Given the description of an element on the screen output the (x, y) to click on. 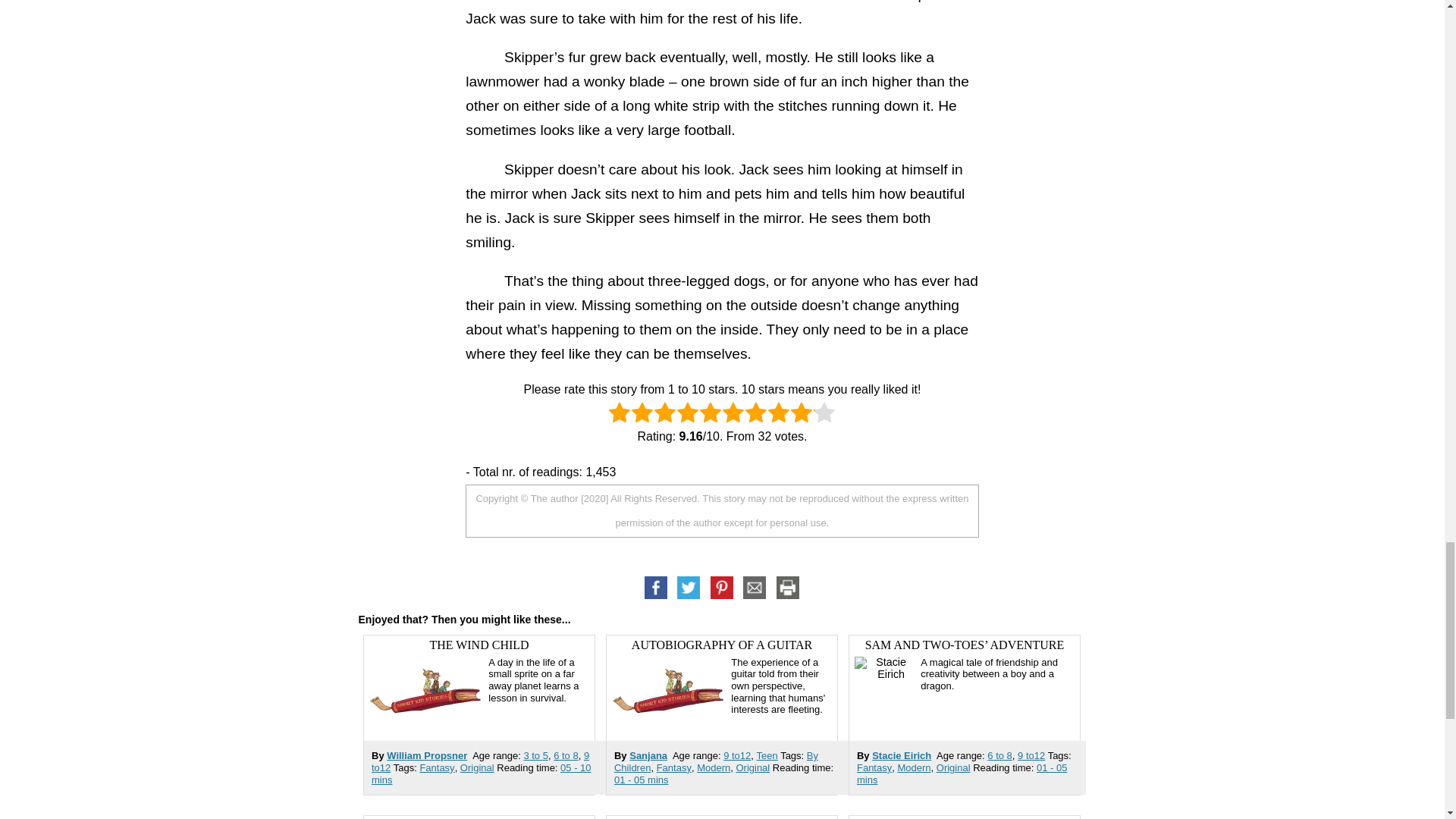
twitter (688, 587)
print (788, 587)
email (754, 587)
pinterest (722, 587)
facebook (656, 587)
